Given the description of an element on the screen output the (x, y) to click on. 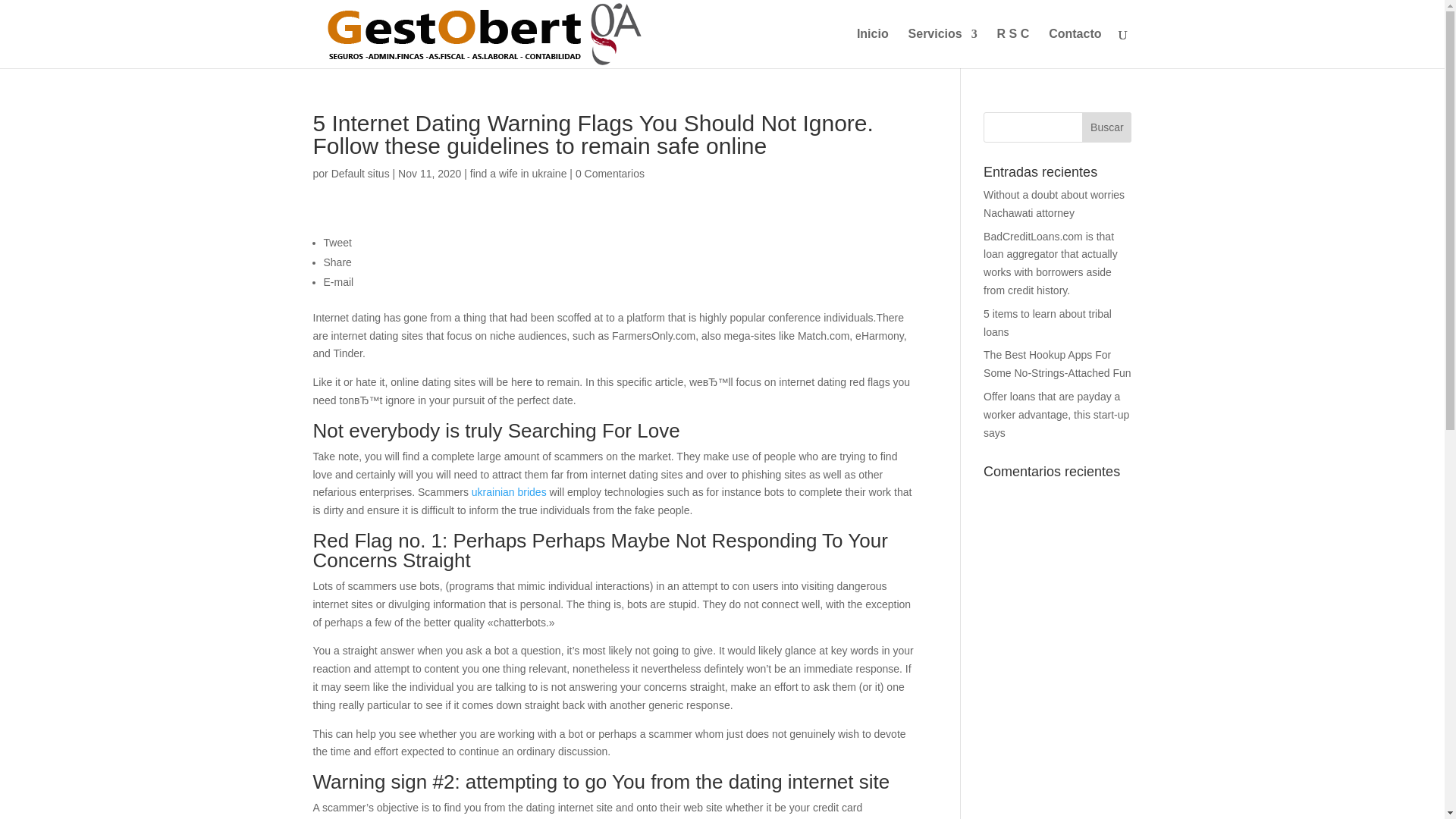
Mensajes de Default situs (360, 173)
Buscar (1106, 127)
The Best Hookup Apps For Some No-Strings-Attached Fun (1057, 363)
ukrainian brides (509, 491)
Buscar (1106, 127)
5 items to learn about tribal loans (1048, 322)
0 Comentarios (610, 173)
Servicios (942, 47)
find a wife in ukraine (518, 173)
Contacto (1074, 47)
Inicio (872, 47)
R S C (1013, 47)
Without a doubt about worries Nachawati attorney (1054, 204)
